Given the description of an element on the screen output the (x, y) to click on. 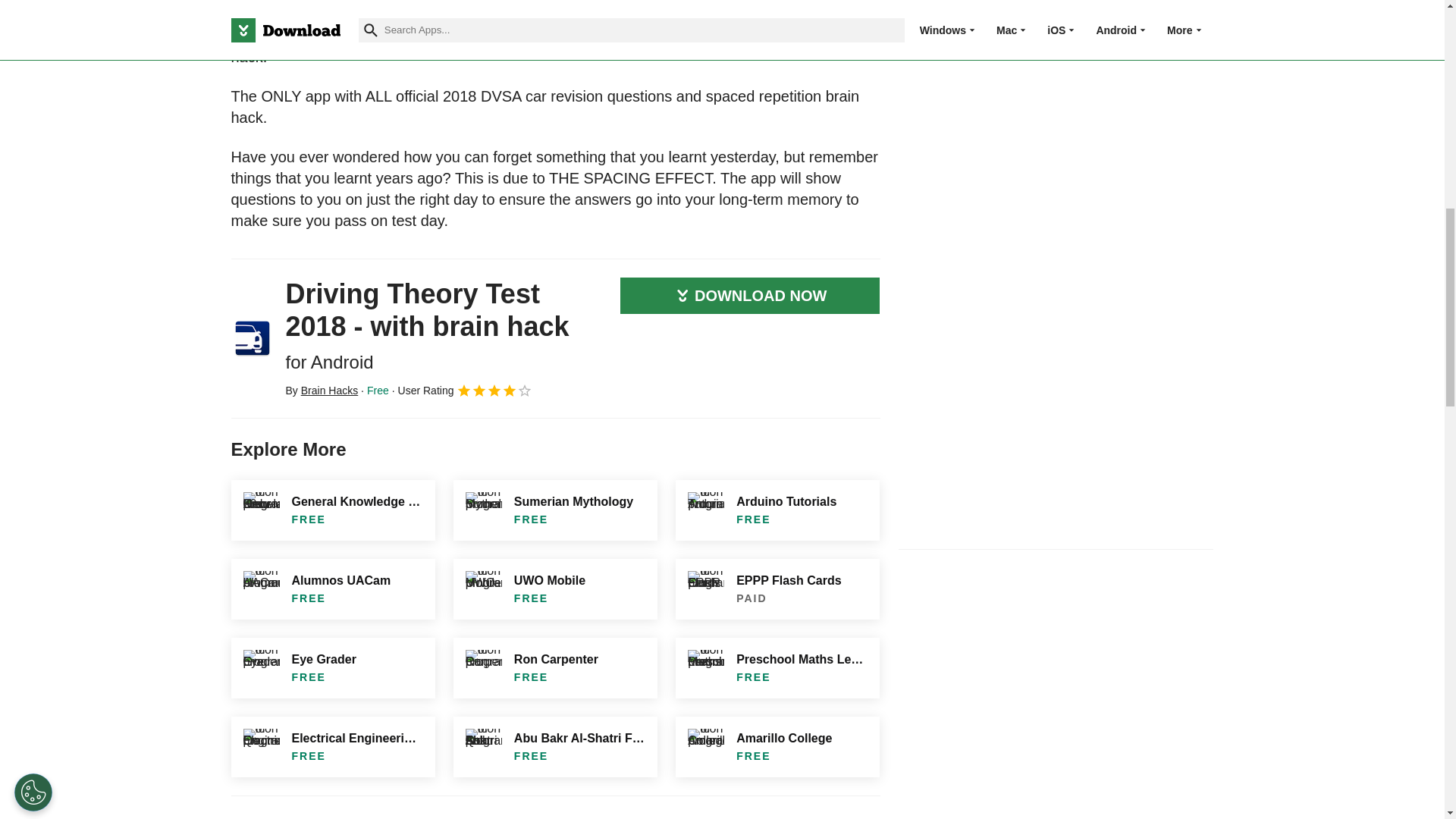
Electrical Engineering Quiz (331, 746)
Alumnos UACam (331, 588)
EPPP Flash Cards (777, 588)
Sumerian Mythology (555, 509)
Ron Carpenter (555, 668)
General Knowledge Urdu 2019 (331, 509)
Preschool Maths Learning Game - For Age 3-7 (777, 668)
UWO Mobile (555, 588)
Driving Theory Test 2018 - with brain hack for Android (251, 337)
Eye Grader (331, 668)
